Given the description of an element on the screen output the (x, y) to click on. 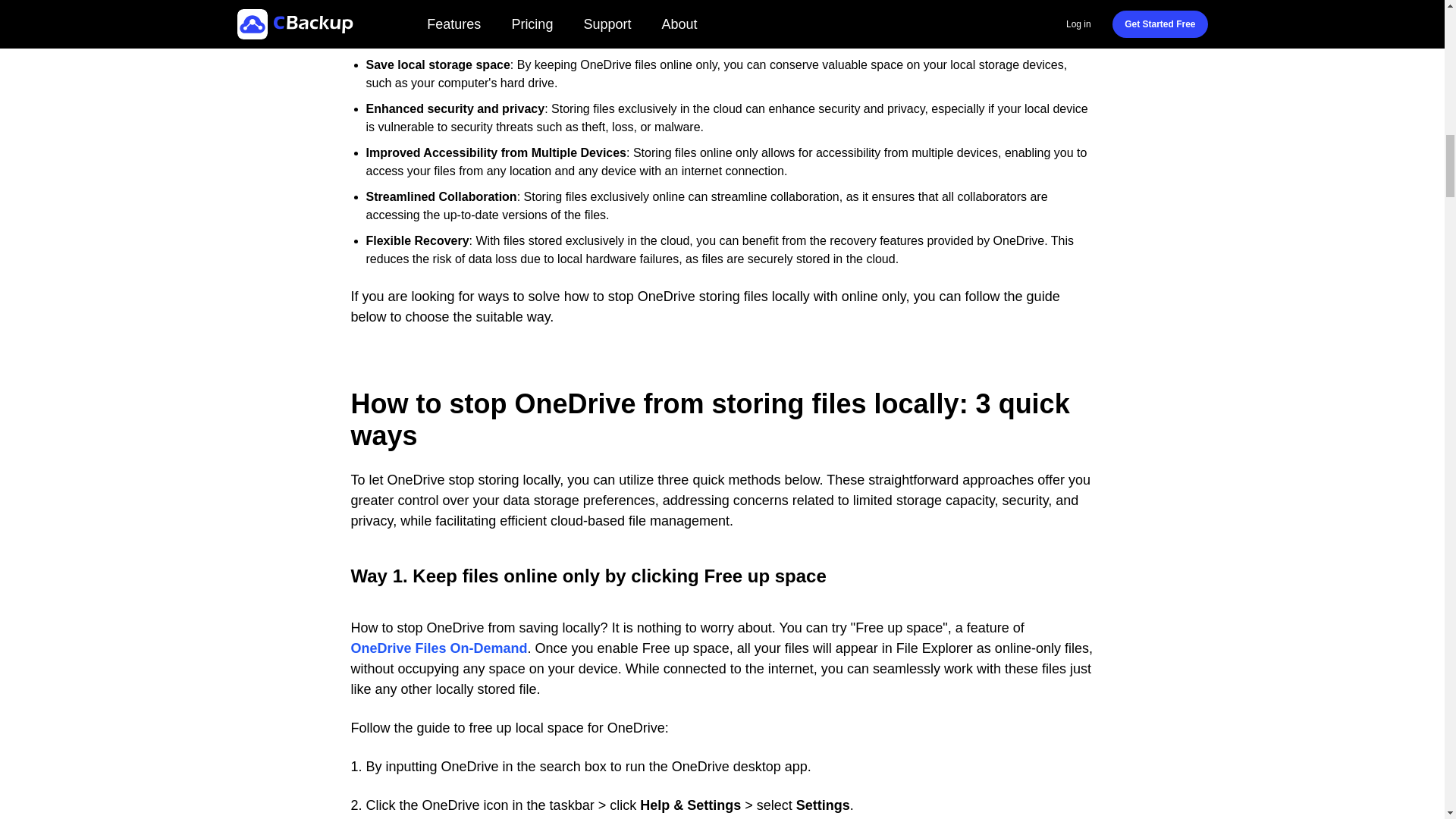
OneDrive Files On-Demand (438, 648)
